Given the description of an element on the screen output the (x, y) to click on. 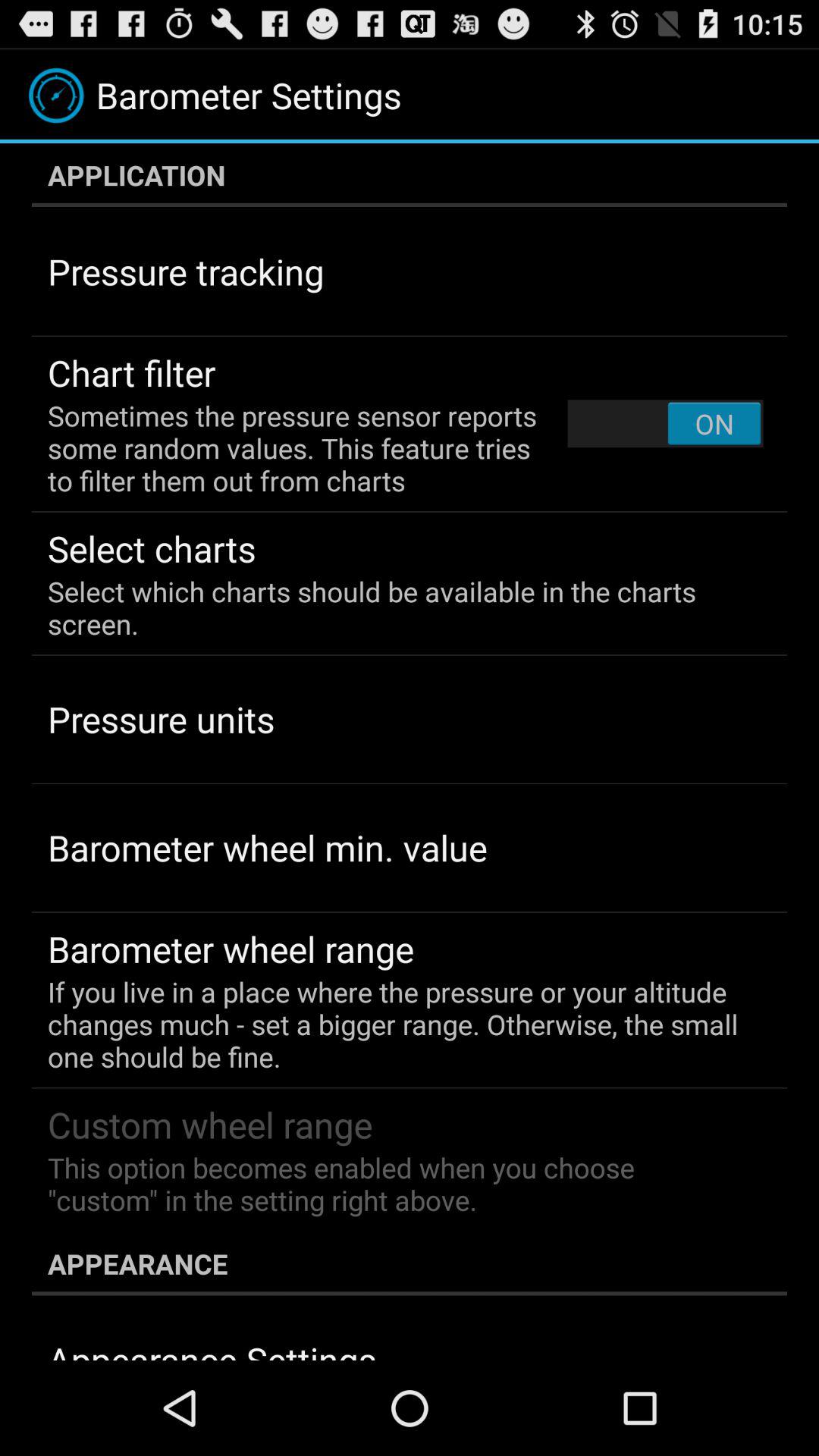
flip to if you live (399, 1024)
